Given the description of an element on the screen output the (x, y) to click on. 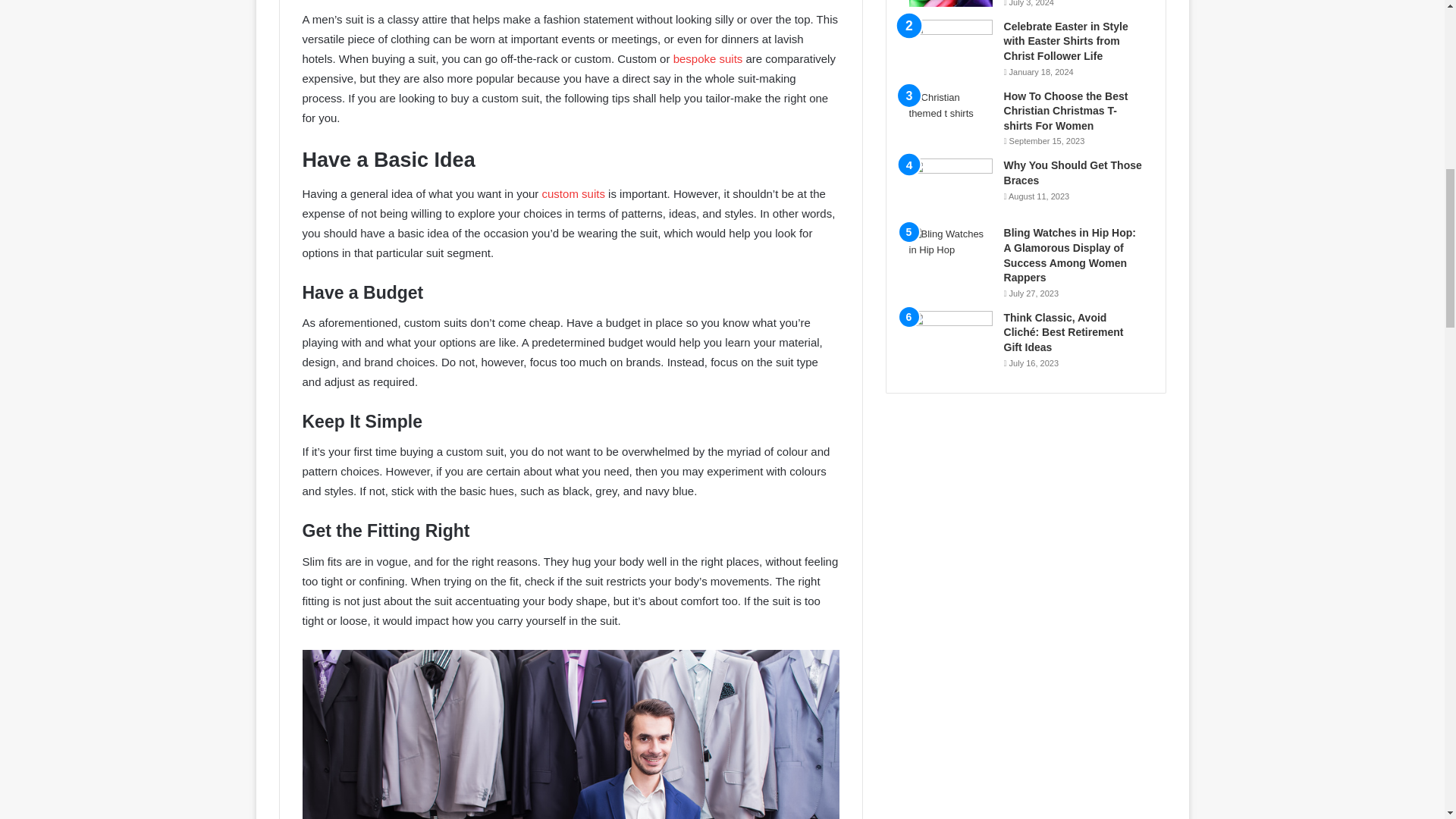
custom suits (573, 193)
Custom Suit (569, 734)
bespoke suits (707, 58)
